Given the description of an element on the screen output the (x, y) to click on. 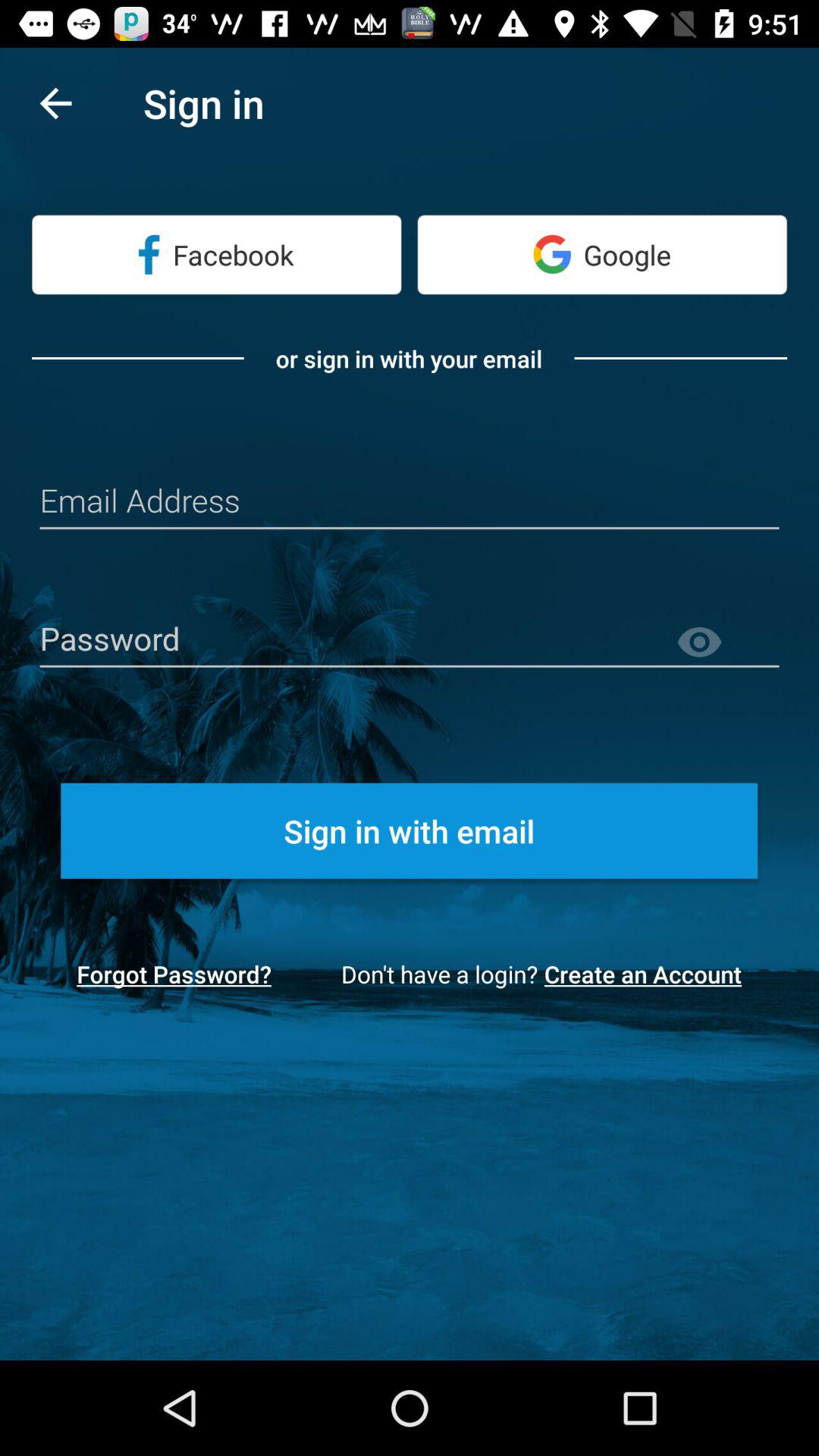
see characters (727, 642)
